Given the description of an element on the screen output the (x, y) to click on. 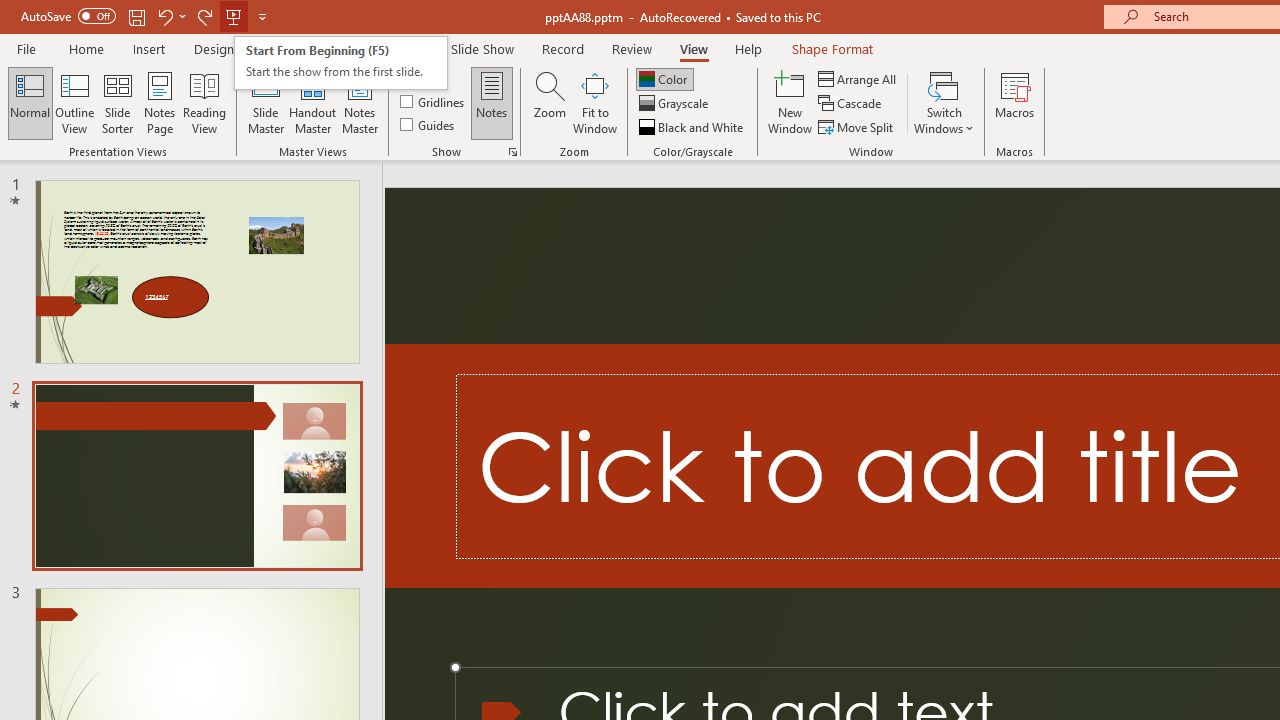
Macros (1014, 102)
Handout Master (312, 102)
